Given the description of an element on the screen output the (x, y) to click on. 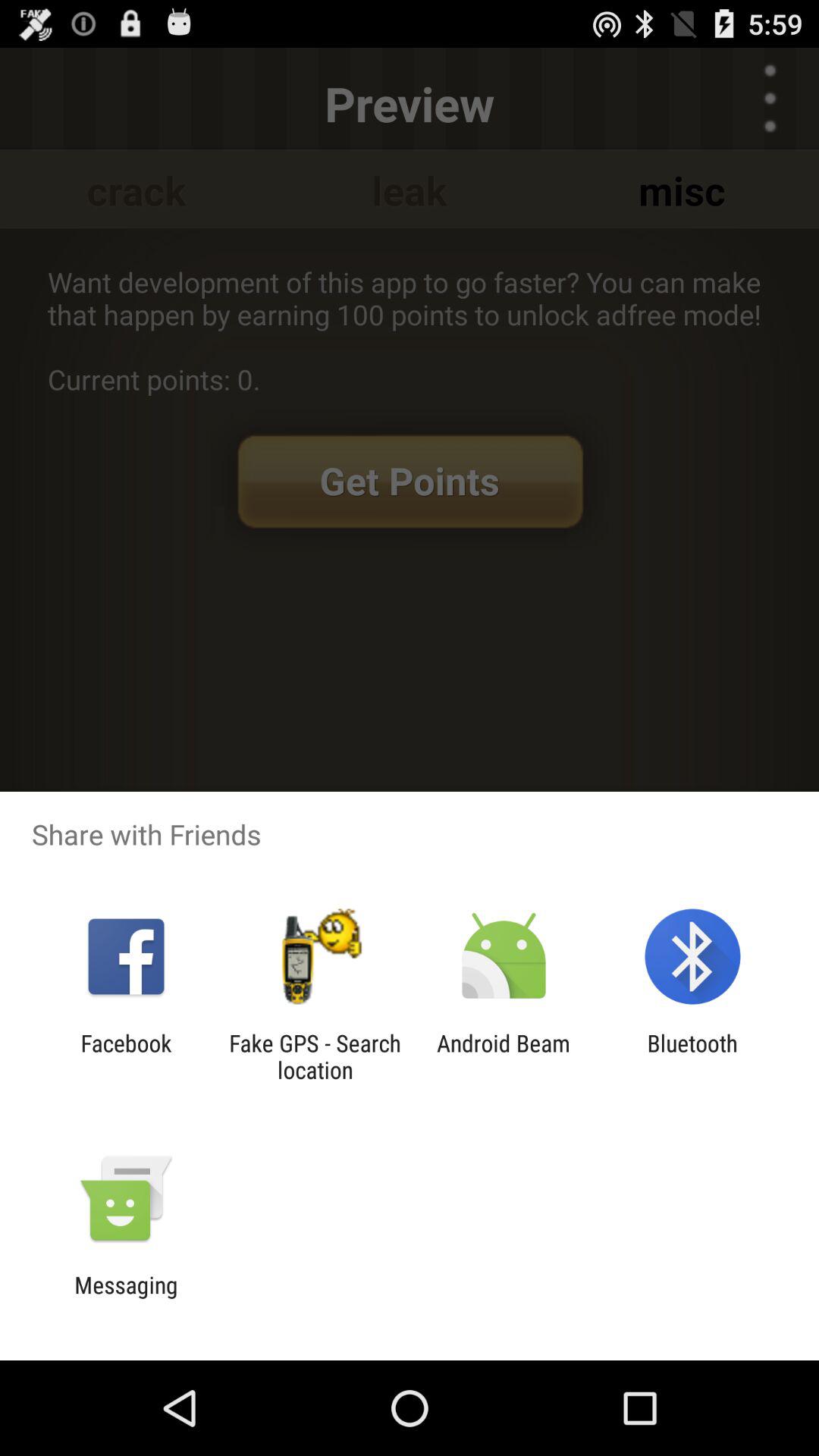
press fake gps search app (314, 1056)
